Given the description of an element on the screen output the (x, y) to click on. 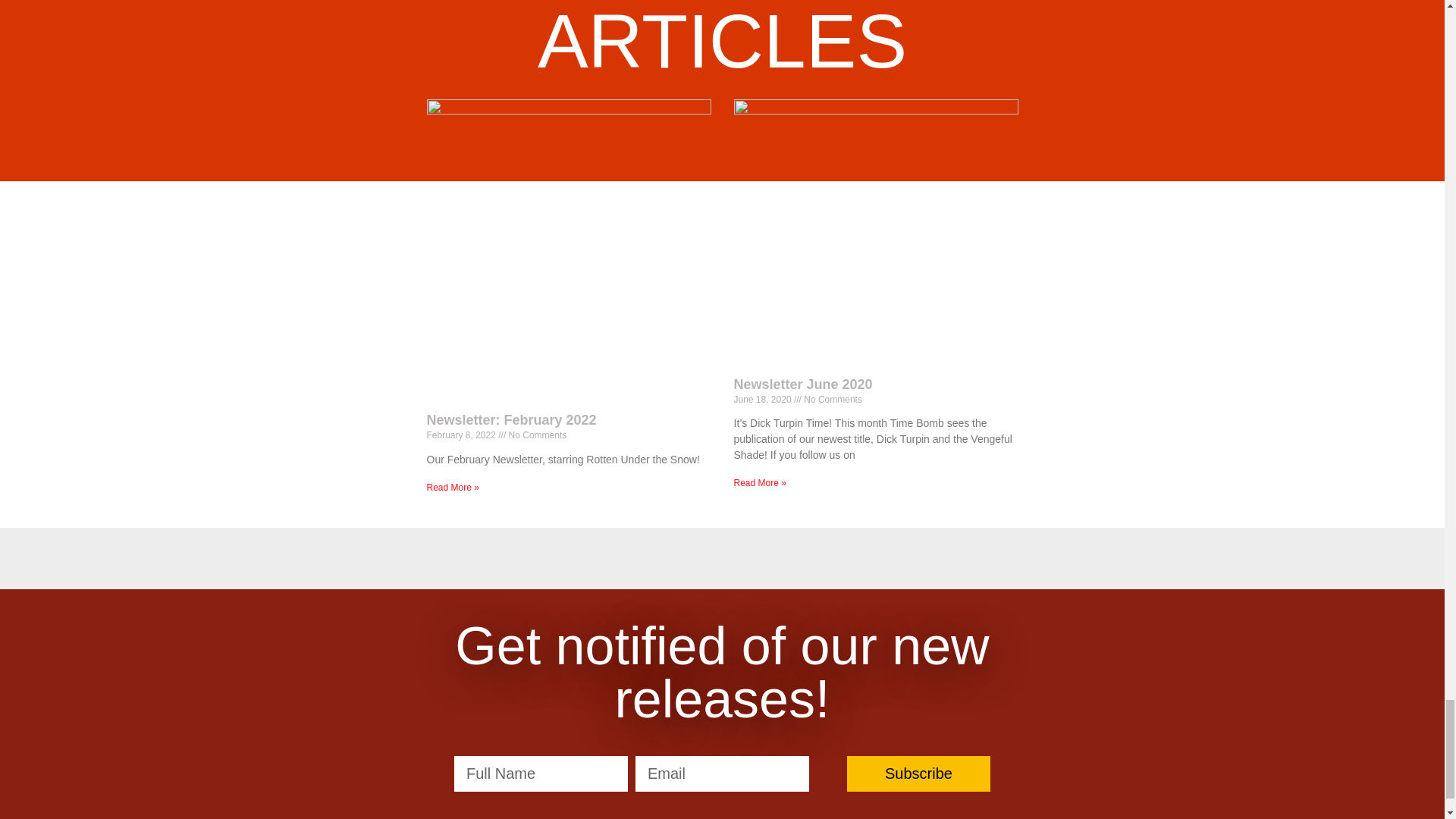
Newsletter: February 2022 (510, 419)
Subscribe (918, 773)
Newsletter June 2020 (802, 384)
